Given the description of an element on the screen output the (x, y) to click on. 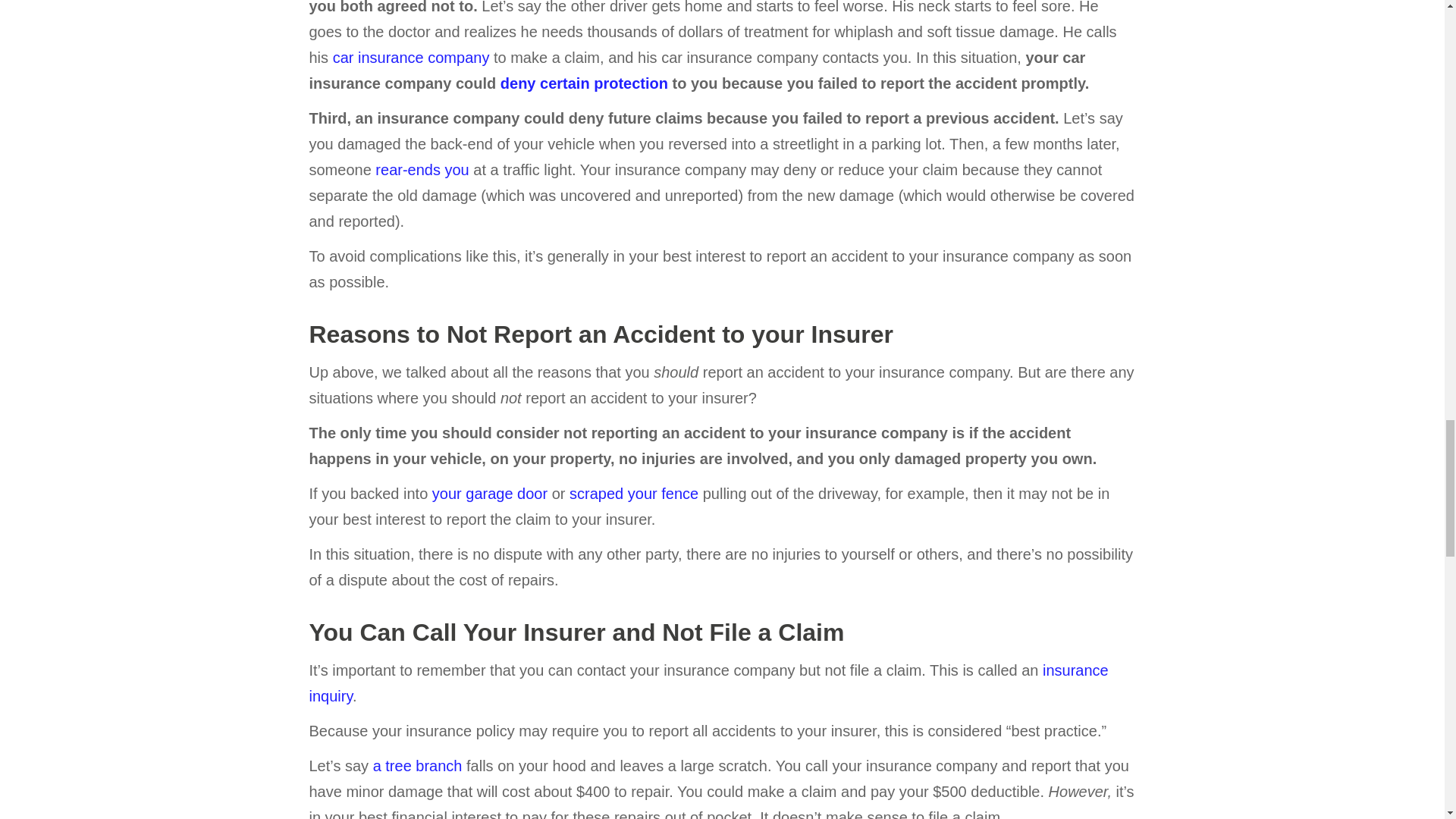
scraped your fence (633, 493)
insurance inquiry (708, 682)
a tree branch (417, 765)
car insurance company (411, 57)
your garage door (489, 493)
deny certain protection (584, 83)
rear-ends you (421, 169)
